Given the description of an element on the screen output the (x, y) to click on. 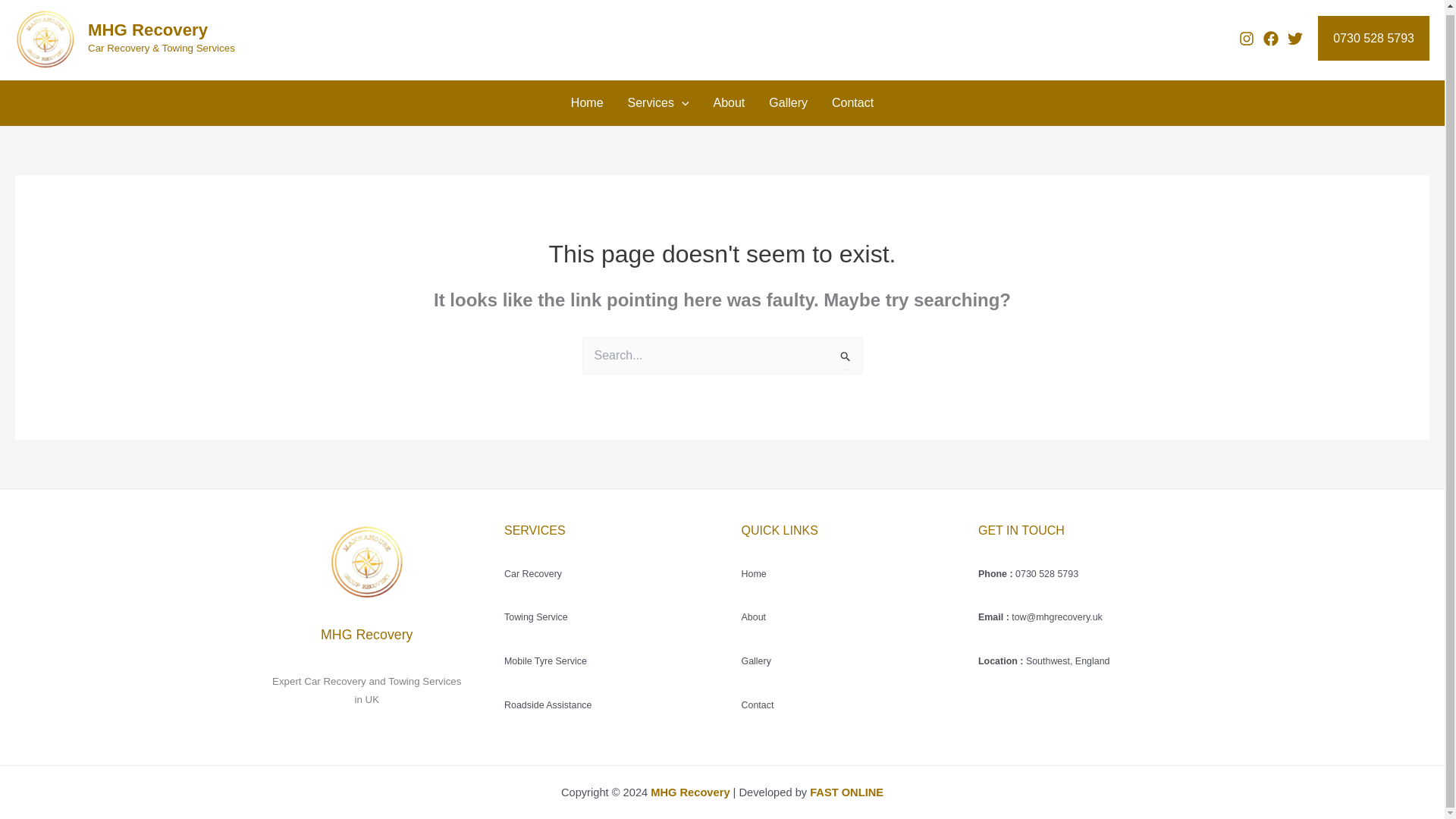
Services (658, 103)
About (754, 616)
Towing Service (535, 616)
Car Recovery (532, 573)
Gallery (788, 103)
Mobile Tyre Service (544, 661)
Roadside Assistance (547, 705)
MHG Recovery (147, 29)
About (728, 103)
Gallery (756, 661)
Contact (852, 103)
Home (587, 103)
0730 528 5793 (1373, 38)
Contact (757, 705)
